Given the description of an element on the screen output the (x, y) to click on. 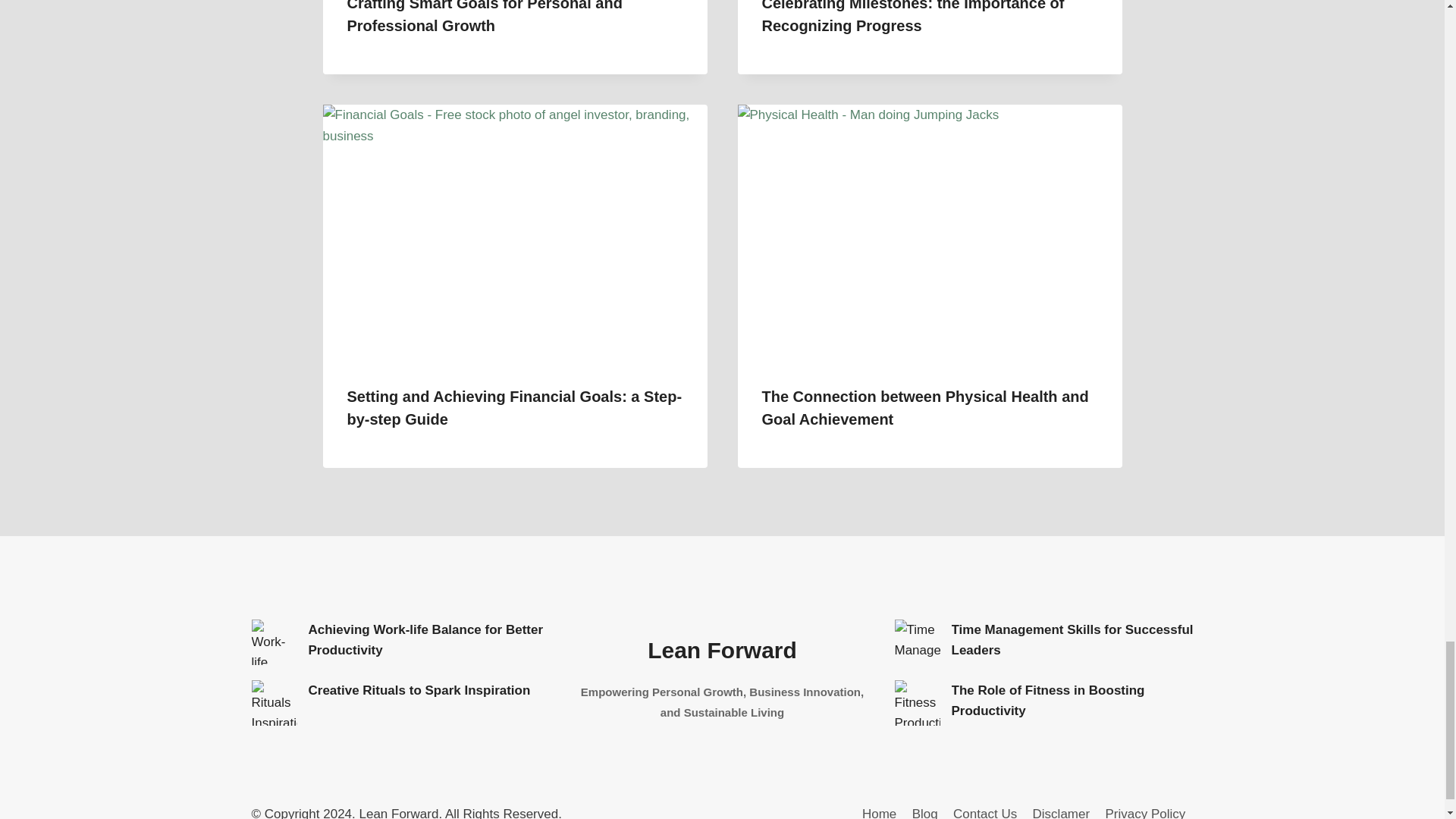
Creative Rituals to Spark Inspiration (274, 702)
Crafting Smart Goals for Personal and Professional Growth (485, 17)
The Connection between Physical Health and Goal Achievement (924, 407)
Creative Rituals to Spark Inspiration (418, 690)
Achieving Work-life Balance for Better Productivity (425, 639)
Setting and Achieving Financial Goals: a Step-by-step Guide (514, 407)
Time Management Skills for Successful Leaders (1071, 639)
Achieving Work-life Balance for Better Productivity (274, 642)
Time Management Skills for Successful Leaders (917, 642)
